Given the description of an element on the screen output the (x, y) to click on. 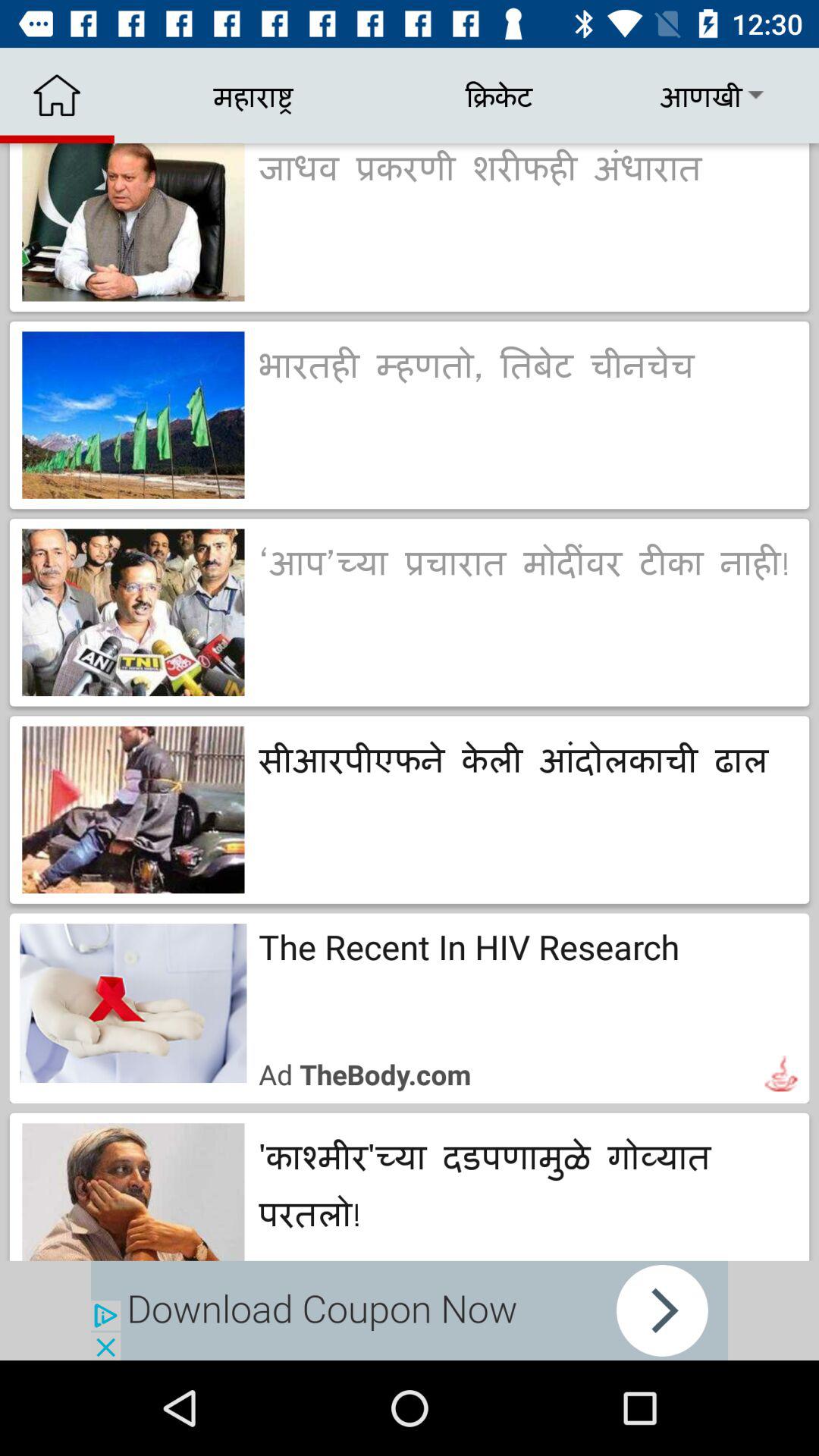
advertisement (409, 1310)
